Given the description of an element on the screen output the (x, y) to click on. 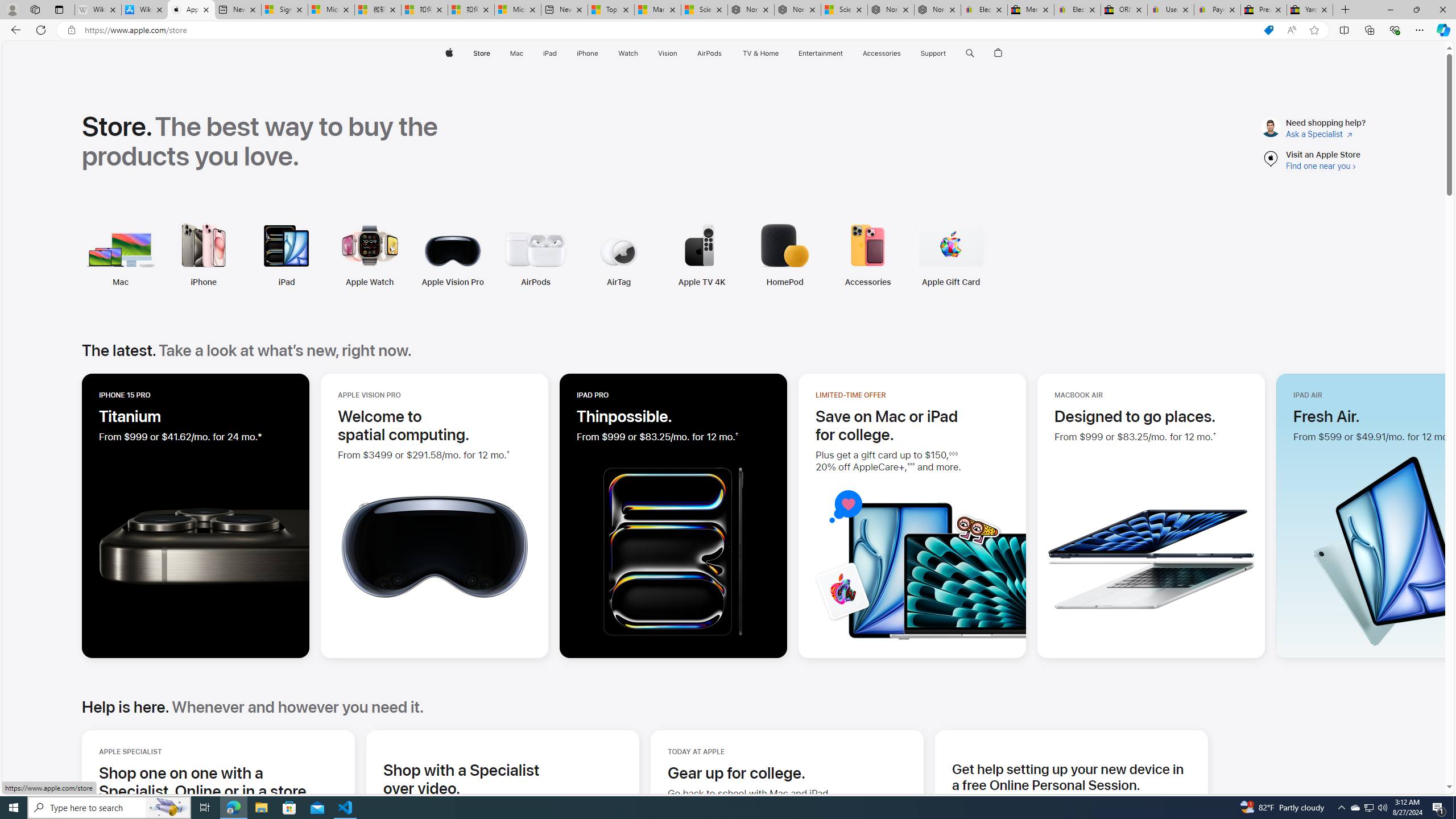
Support (932, 53)
Search apple.com (969, 53)
Titanium (130, 416)
Shopping Bag (998, 53)
iPhone (126, 254)
AirTag (541, 254)
Accessories (868, 281)
Mac (119, 281)
User Privacy Notice | eBay (1170, 9)
